Given the description of an element on the screen output the (x, y) to click on. 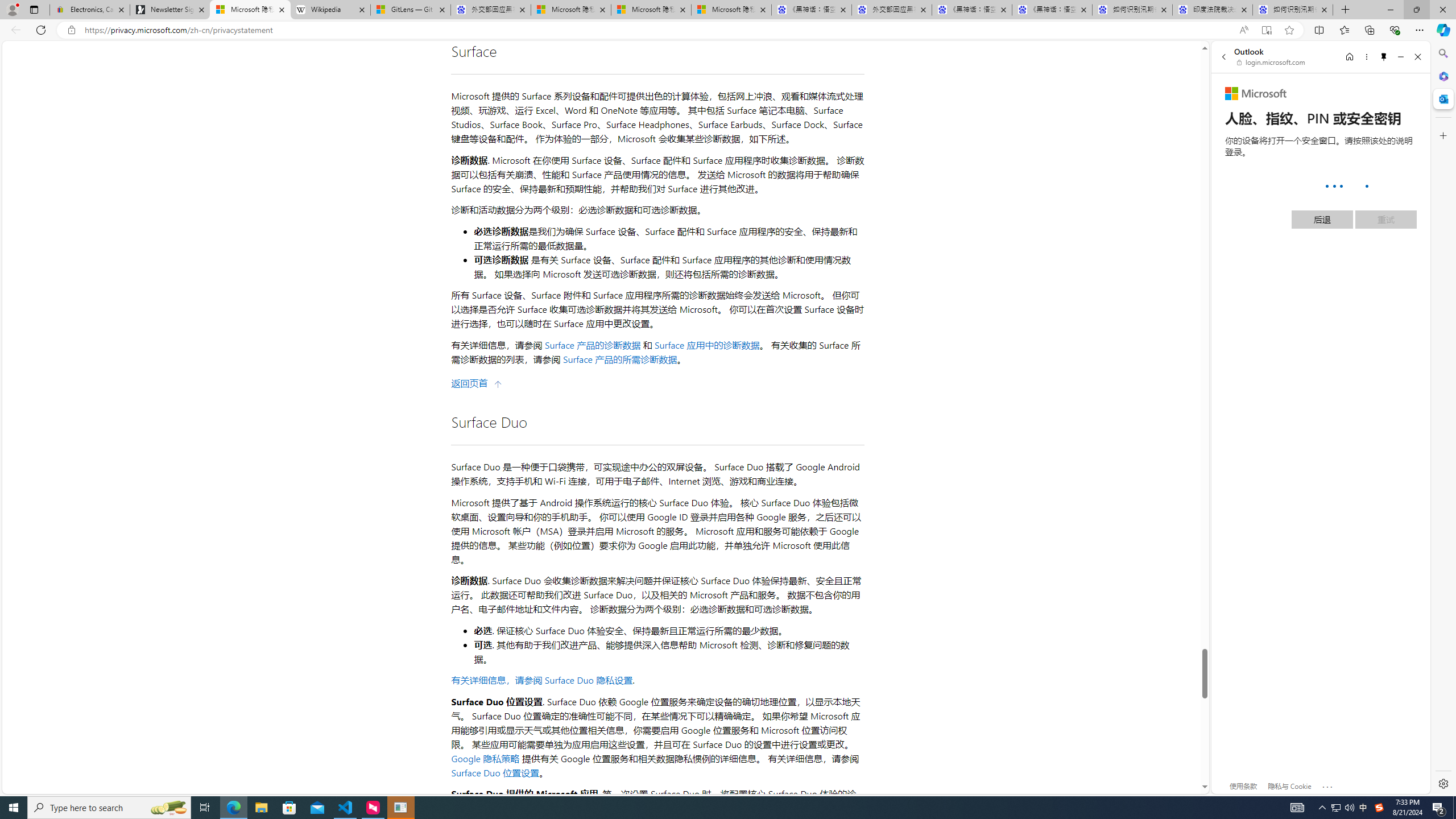
login.microsoft.com (1271, 61)
Electronics, Cars, Fashion, Collectibles & More | eBay (90, 9)
Newsletter Sign Up (170, 9)
